Given the description of an element on the screen output the (x, y) to click on. 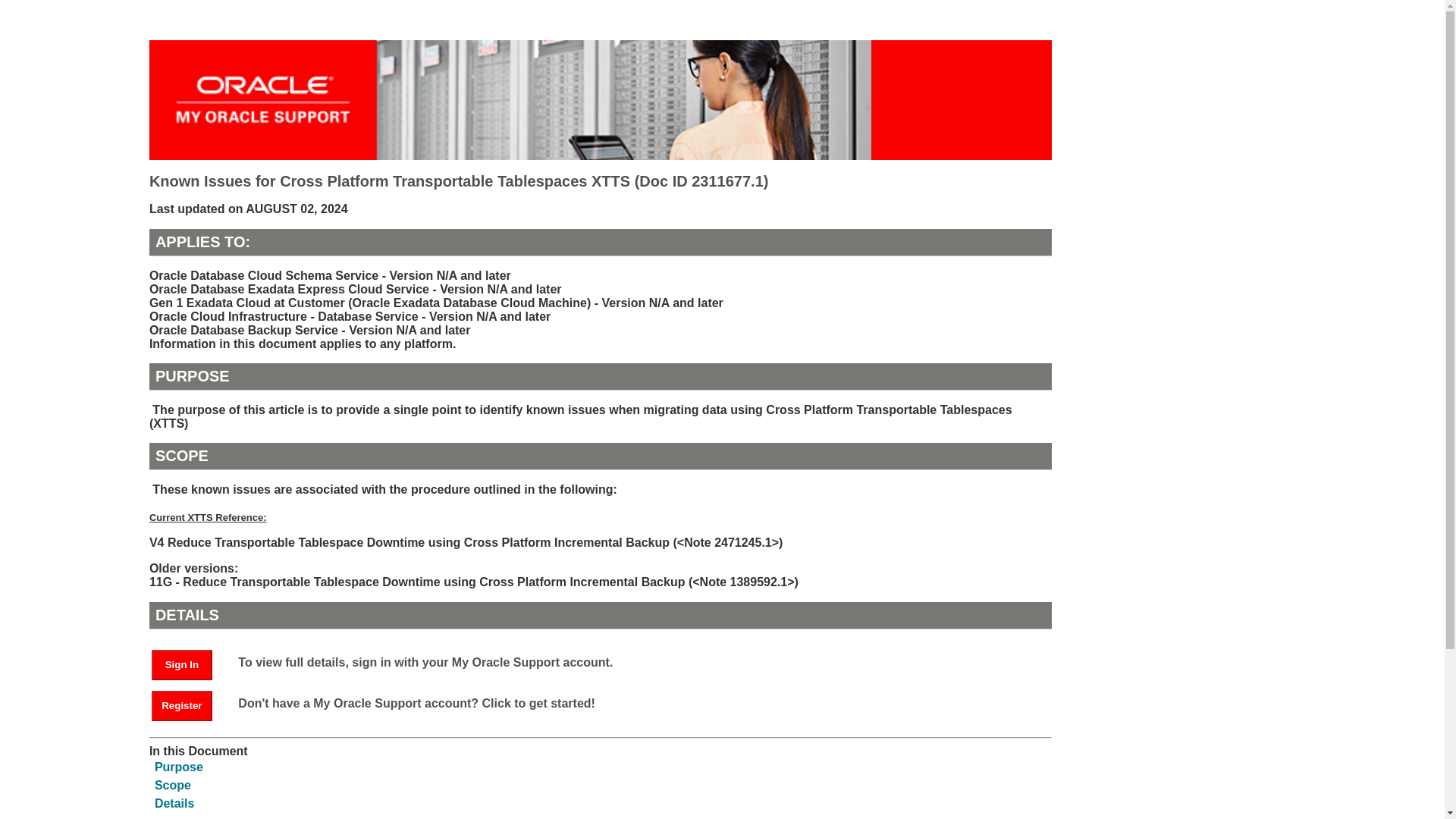
Scope (172, 784)
Register (181, 706)
Purpose (178, 766)
Details (173, 802)
Transportable Tablespace Restrictions and Limitations: (299, 816)
Register (189, 704)
Sign In (181, 665)
Sign In (189, 663)
